Given the description of an element on the screen output the (x, y) to click on. 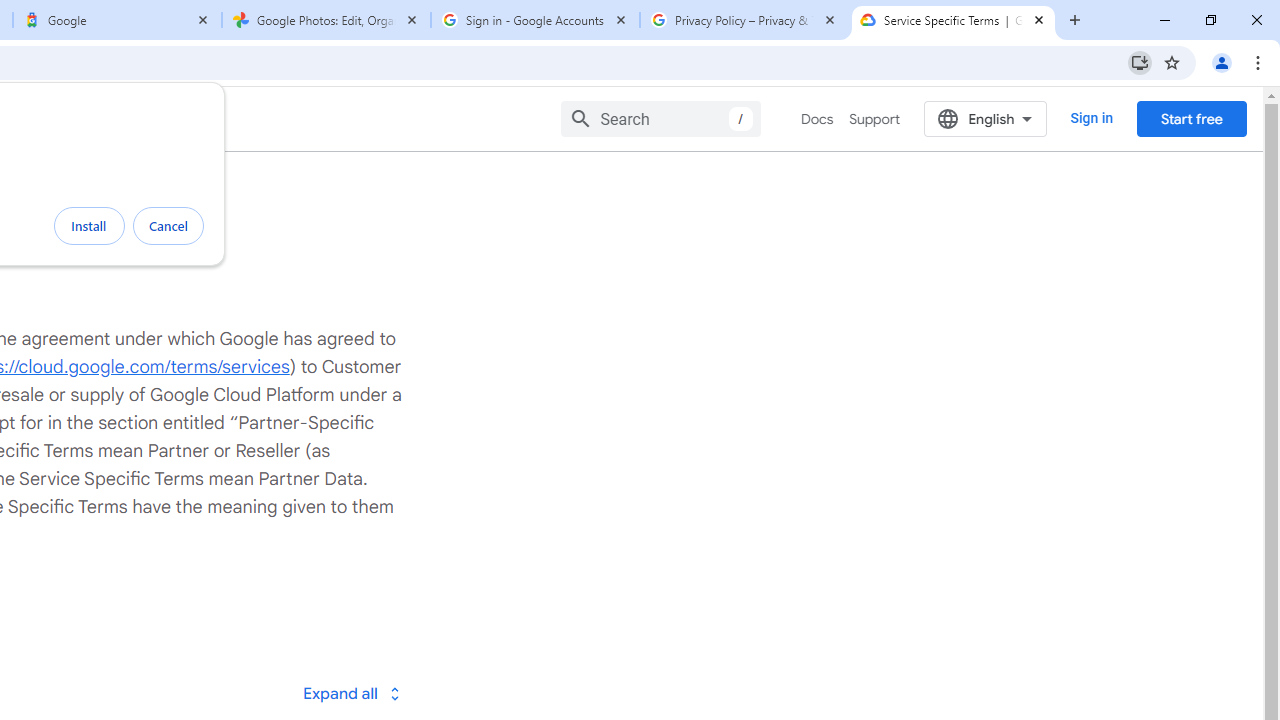
English (985, 118)
Start free (1191, 118)
Cancel (168, 225)
Google (116, 20)
Sign in - Google Accounts (535, 20)
Install (89, 225)
